Given the description of an element on the screen output the (x, y) to click on. 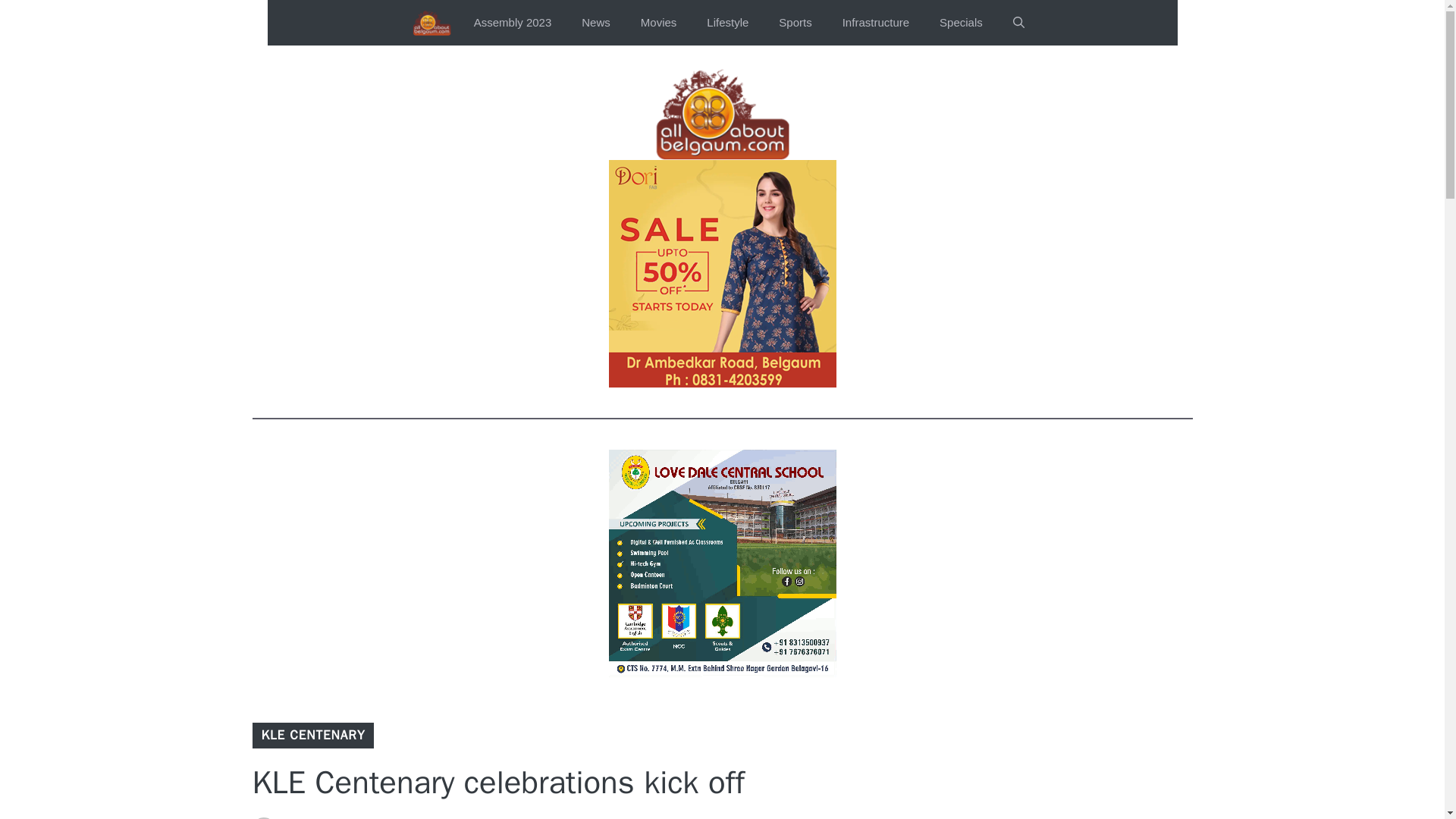
News (596, 22)
Assembly 2023 (512, 22)
All About Belgaum (431, 22)
Sports (794, 22)
Specials (960, 22)
Lifestyle (726, 22)
KLE CENTENARY (312, 734)
Infrastructure (875, 22)
Movies (659, 22)
